Given the description of an element on the screen output the (x, y) to click on. 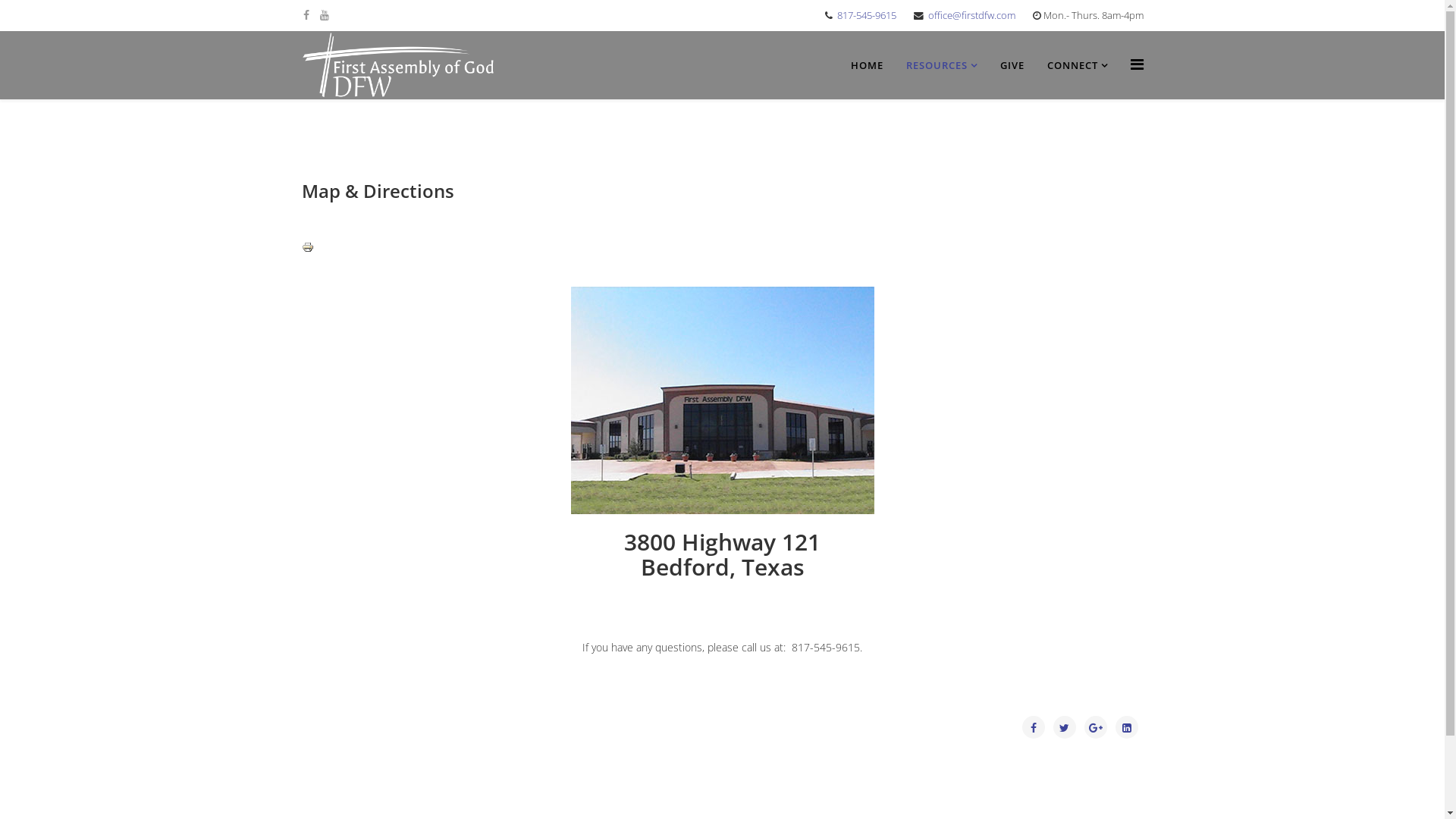
HOME Element type: text (866, 65)
Menu Element type: hover (1135, 64)
Print Element type: hover (722, 254)
GIVE Element type: text (1011, 65)
CONNECT Element type: text (1077, 65)
817-545-9615 Element type: text (866, 15)
RESOURCES Element type: text (941, 65)
office@firstdfw.com Element type: text (971, 15)
